Given the description of an element on the screen output the (x, y) to click on. 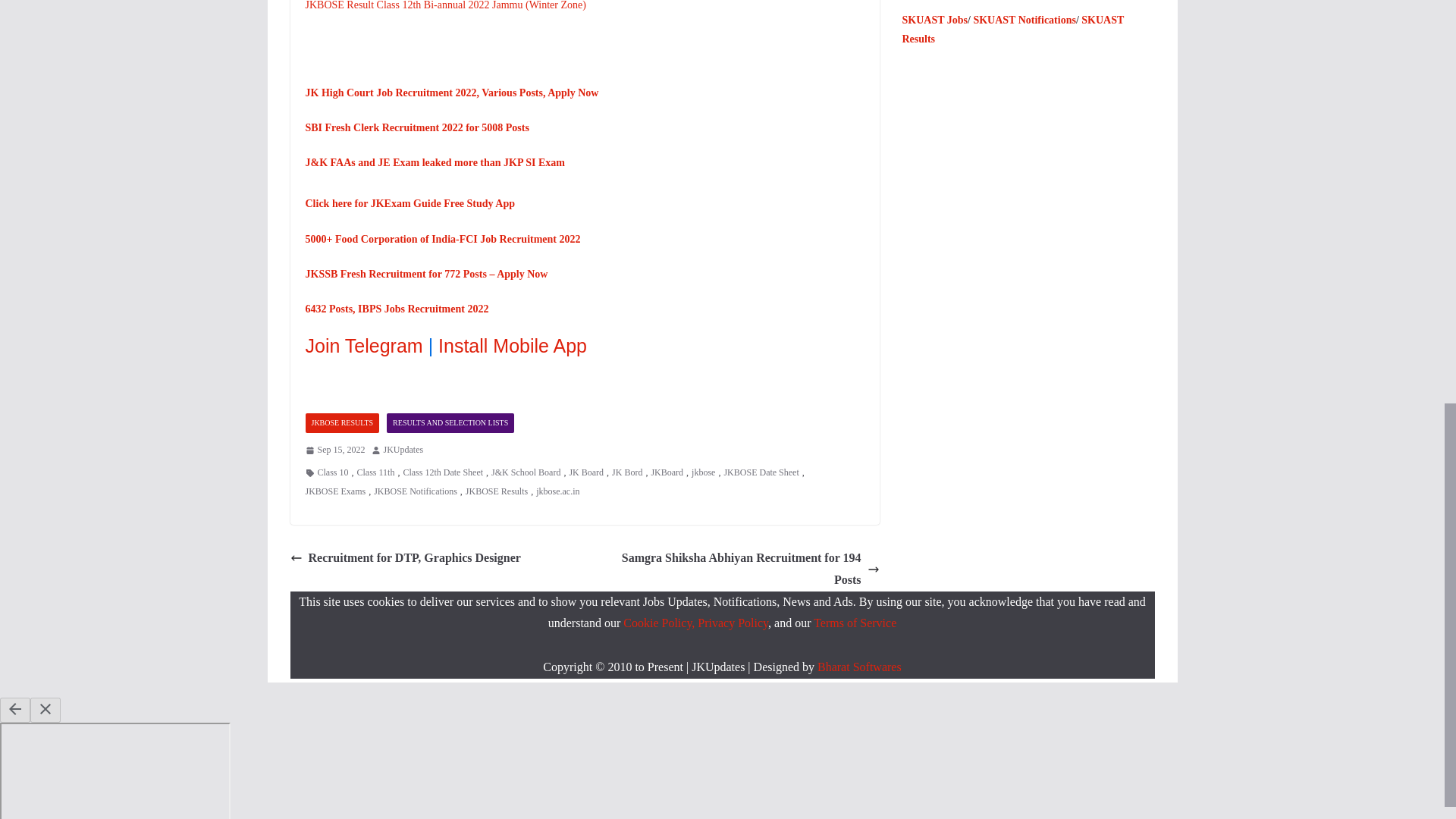
SBI Fresh Clerk Recruitment 2022 for 5008 Posts (416, 127)
JK High Court Job Recruitment 2022, Various Posts, Apply Now (451, 92)
9:53 am (334, 450)
6432 Posts, IBPS Jobs Recruitment 2022 (395, 308)
